Given the description of an element on the screen output the (x, y) to click on. 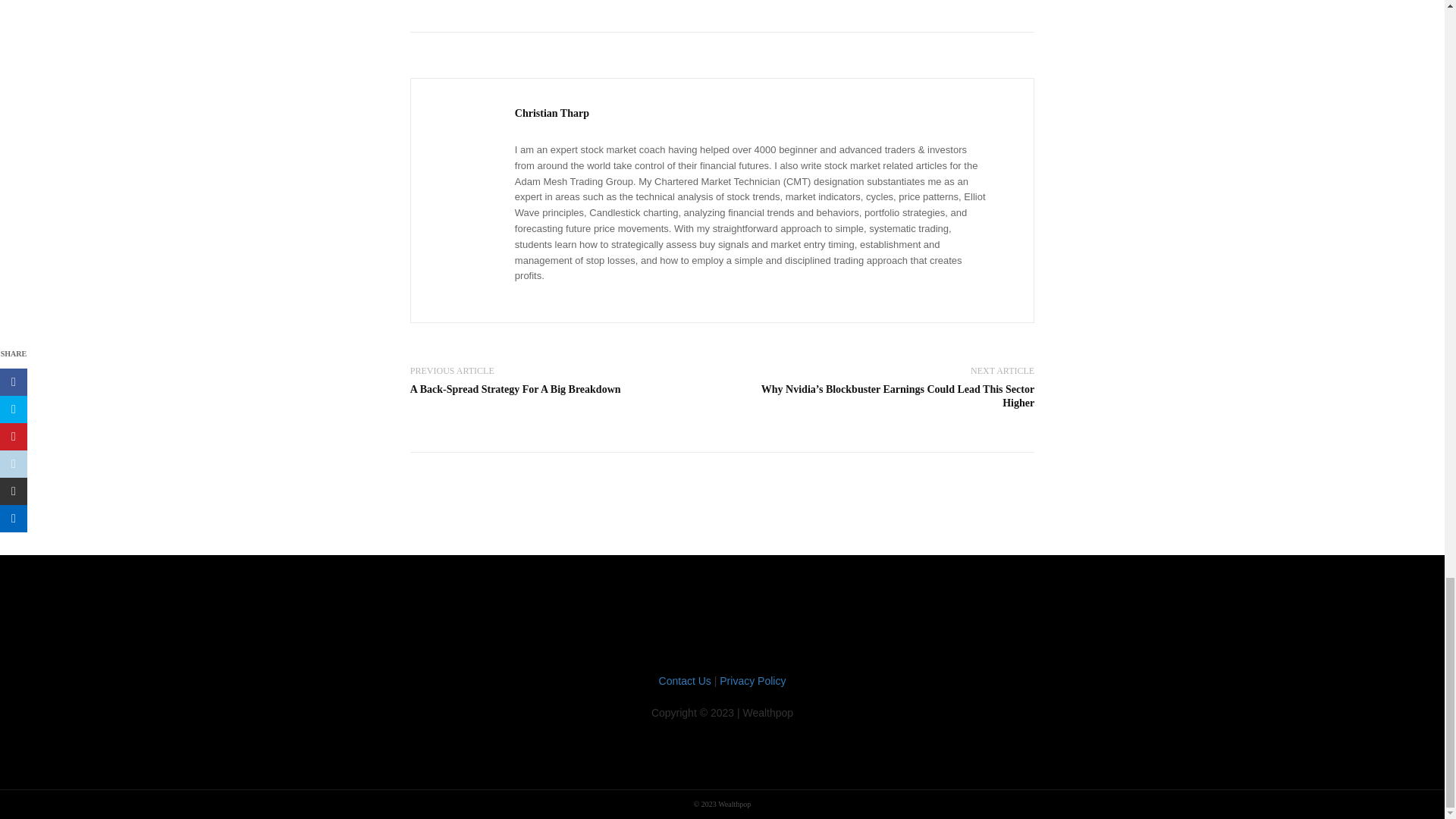
Christian Tharp (552, 113)
